Given the description of an element on the screen output the (x, y) to click on. 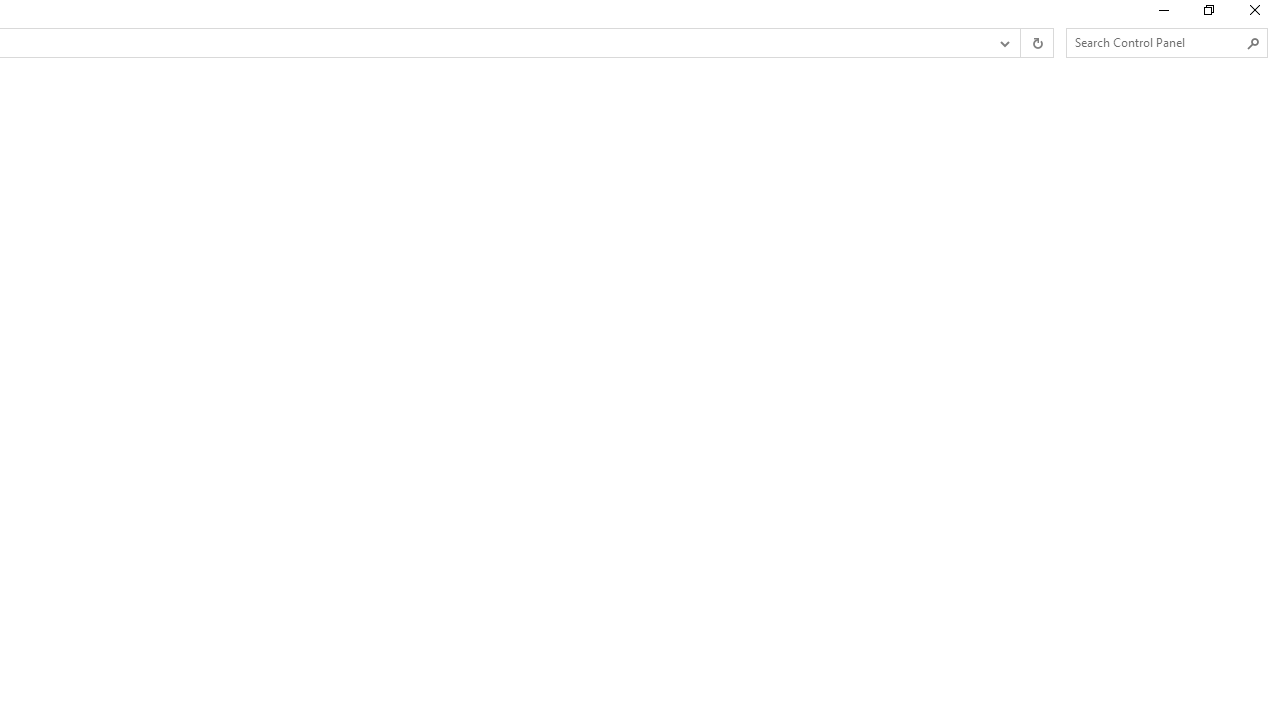
Search Box (1156, 42)
Refresh "Programs" (F5) (1036, 43)
Address band toolbar (1019, 43)
Search (1253, 43)
Minimize (1162, 14)
Restore (1208, 14)
Previous Locations (1003, 43)
